Given the description of an element on the screen output the (x, y) to click on. 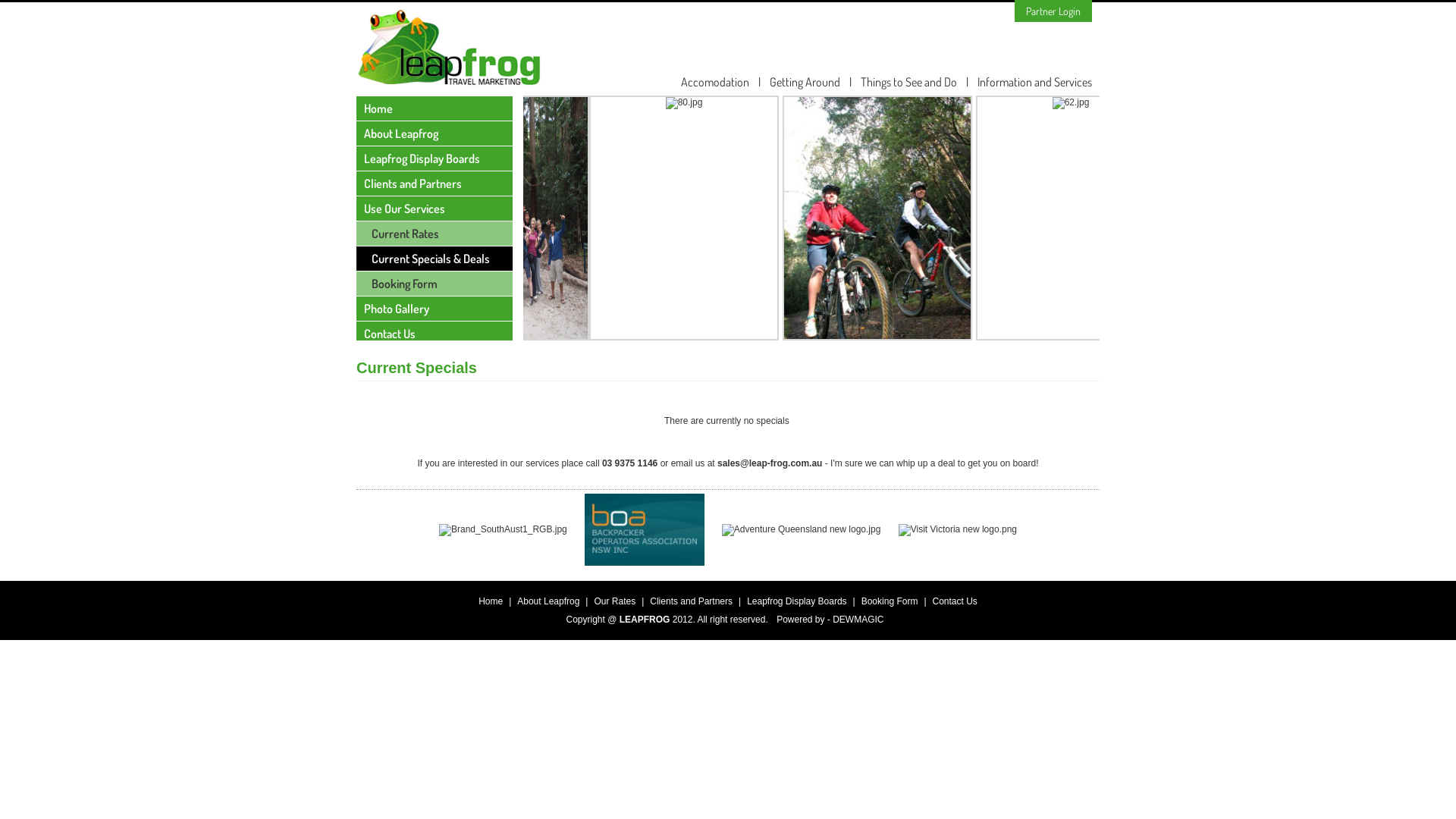
Contact Us Element type: text (434, 333)
Contact Us Element type: text (954, 601)
About Leapfrog Element type: text (548, 601)
Clients and Partners Element type: text (434, 183)
About Leapfrog Element type: text (434, 133)
> Element type: text (1127, 300)
Leapfrog Display Boards Element type: text (796, 601)
Use Our Services Element type: text (434, 208)
Home Element type: text (490, 601)
Booking Form Element type: text (434, 283)
Clients and Partners Element type: text (690, 601)
Accomodation Element type: text (714, 81)
Home Element type: text (434, 108)
Powered by - DEWMAGIC Element type: text (829, 619)
Our Rates Element type: text (614, 601)
Information and Services Element type: text (1034, 81)
Leapfrog Display Boards Element type: text (434, 158)
Things to See and Do Element type: text (908, 81)
Partner Login Element type: text (1053, 10)
< Element type: text (494, 300)
Current Rates Element type: text (434, 233)
Current Specials & Deals Element type: text (434, 258)
Photo Gallery Element type: text (434, 308)
Booking Form Element type: text (889, 601)
Getting Around Element type: text (804, 81)
